Given the description of an element on the screen output the (x, y) to click on. 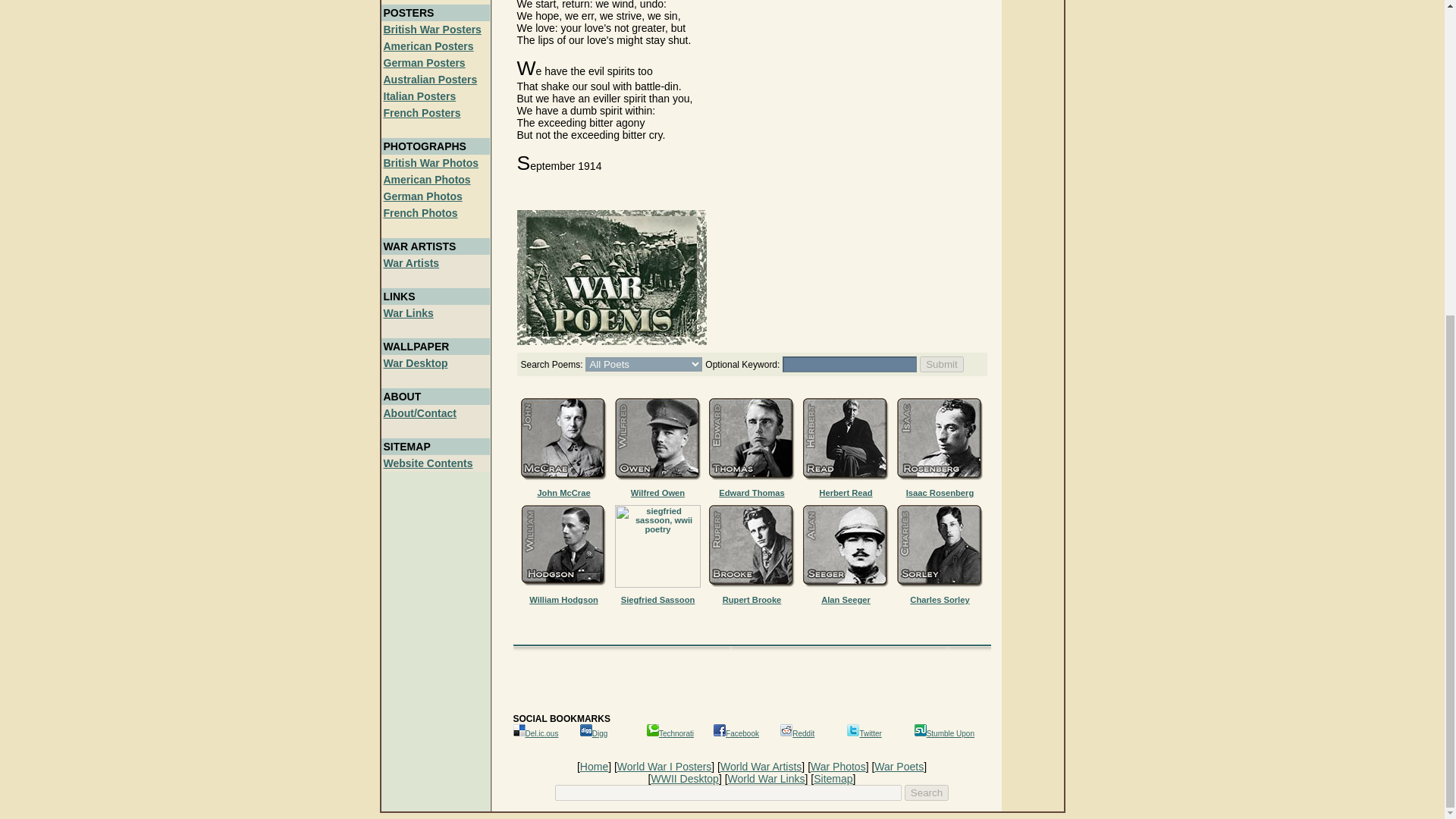
Italian Posters (420, 96)
War Desktop (416, 363)
Submit (941, 364)
American Photos (427, 179)
German Posters (424, 62)
stumbleupon (920, 729)
Australian Posters (430, 79)
British War Photos (431, 162)
facebook (719, 729)
War Artists (411, 263)
